Given the description of an element on the screen output the (x, y) to click on. 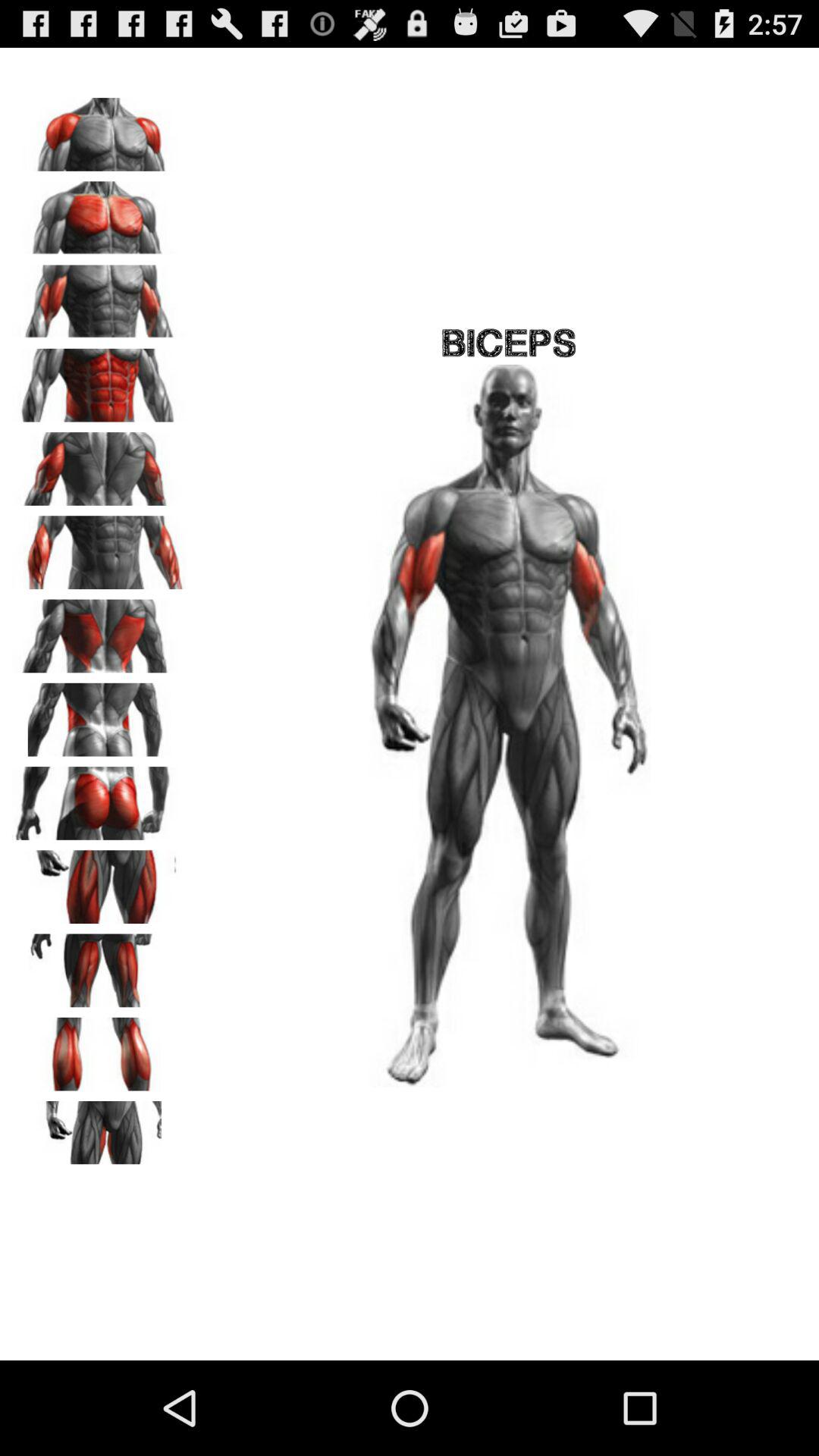
select picture (99, 296)
